Given the description of an element on the screen output the (x, y) to click on. 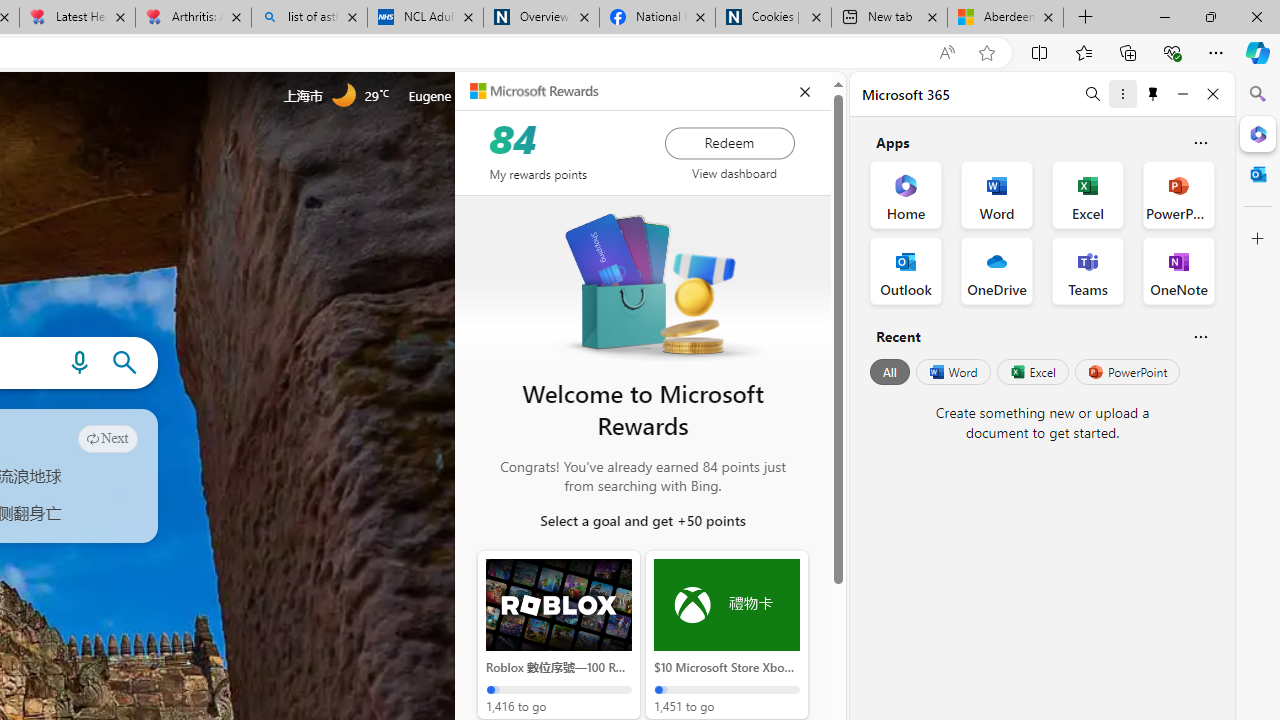
OneDrive Office App (996, 270)
Outlook Office App (906, 270)
Redeem (729, 142)
